Given the description of an element on the screen output the (x, y) to click on. 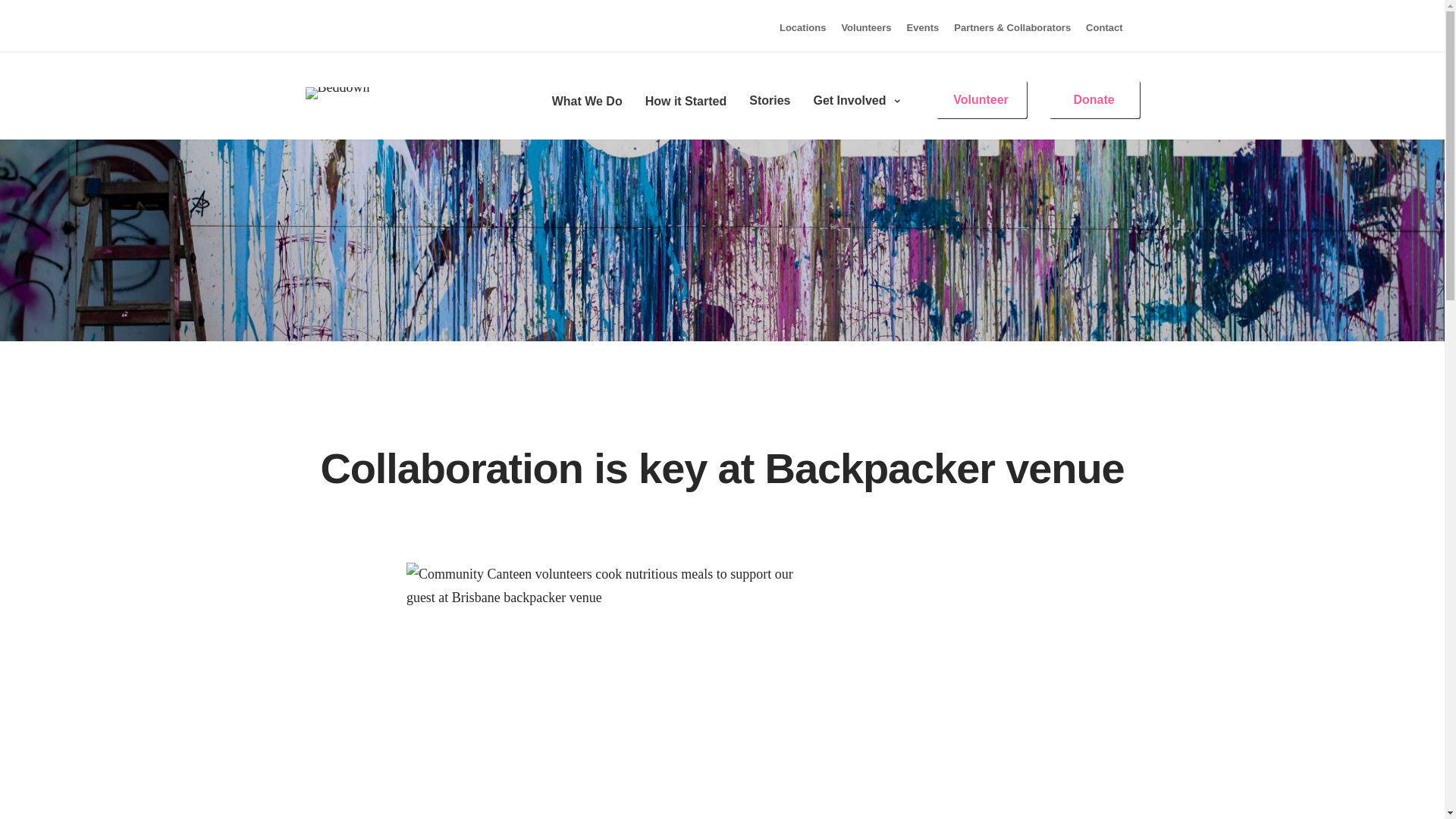
Partners & Collaborators Element type: text (1012, 27)
Donate Element type: text (1093, 99)
Volunteers Element type: text (865, 27)
Contact Element type: text (1103, 27)
Volunteer Element type: text (980, 99)
How it Started Element type: text (685, 98)
What We Do Element type: text (586, 98)
Stories Element type: text (769, 98)
Get Involved Element type: text (857, 98)
Locations Element type: text (802, 27)
Events Element type: text (923, 27)
Beddown Element type: hover (336, 86)
